Given the description of an element on the screen output the (x, y) to click on. 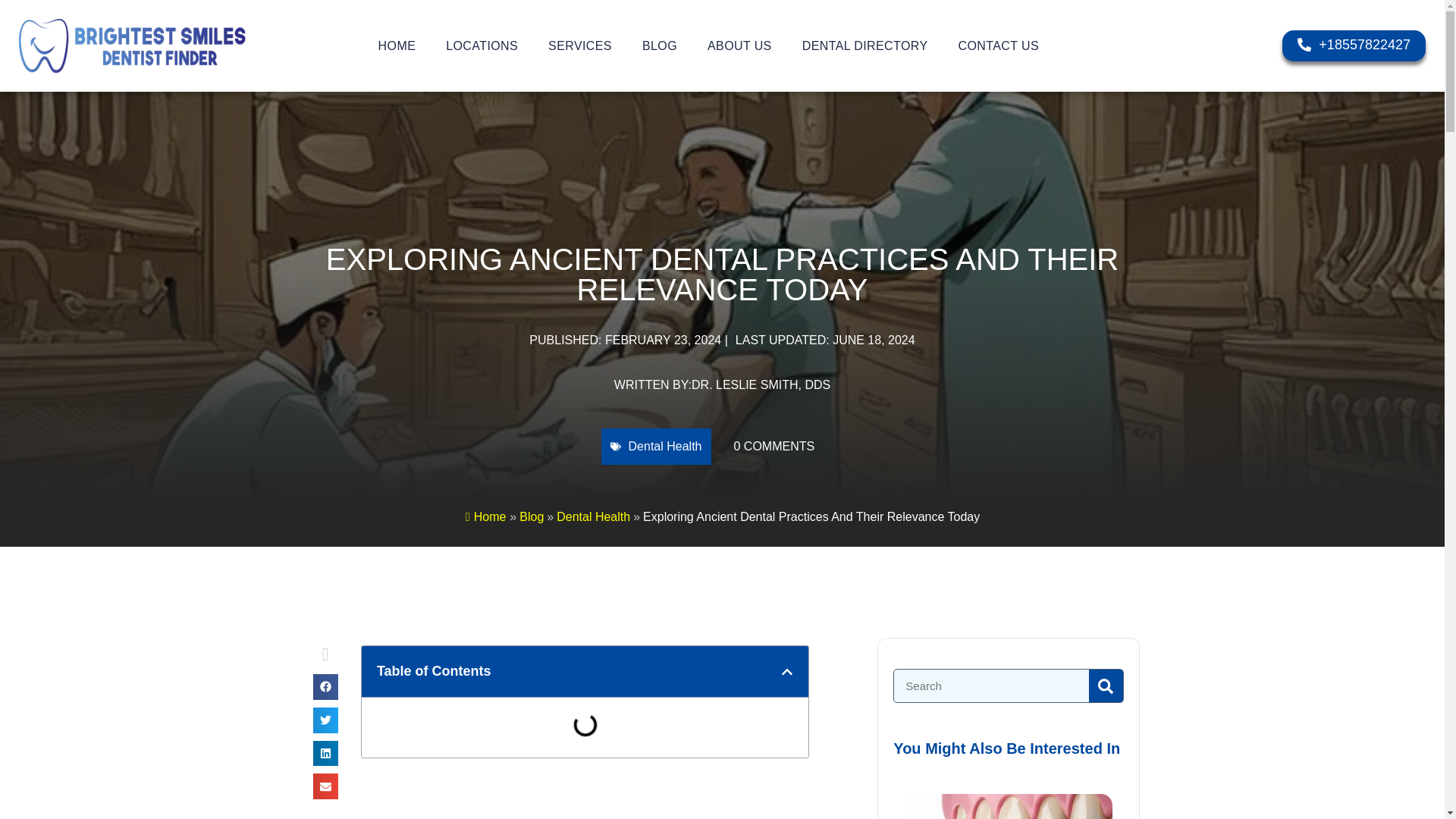
HOME (396, 45)
Exploring Ancient Dental Practices And Their Relevance Today (811, 516)
DENTAL DIRECTORY (865, 45)
CONTACT US (998, 45)
LOCATIONS (481, 45)
SERVICES (579, 45)
BLOG (660, 45)
Exploring Ancient Dental Practices And Their Relevance Today (531, 516)
Category Name (593, 516)
ABOUT US (740, 45)
